Given the description of an element on the screen output the (x, y) to click on. 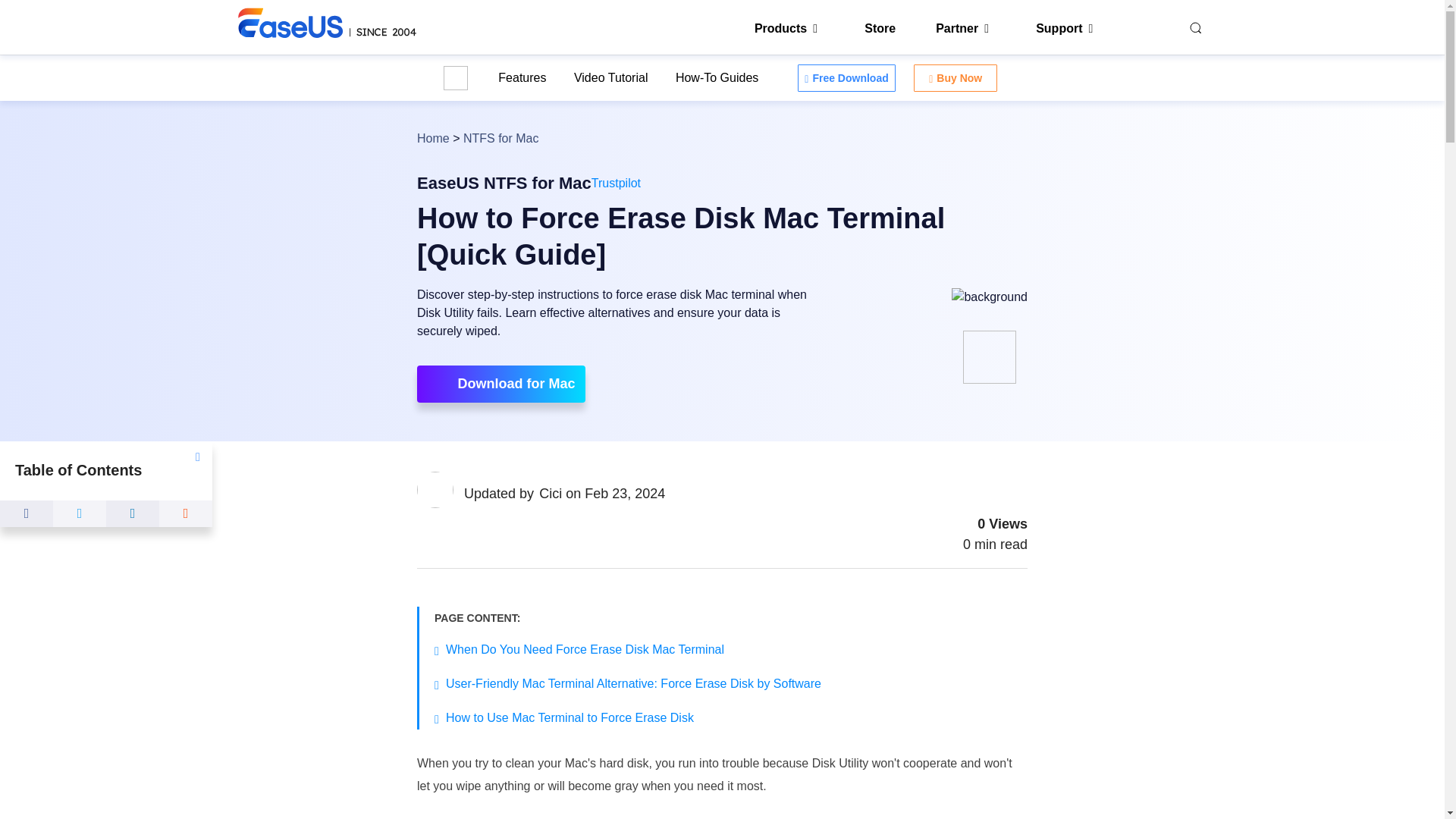
When Do You Need Force Erase Disk Mac Terminal (584, 649)
How-To Guides (716, 77)
Home (432, 137)
 Download for Mac (500, 383)
Video Tutorial (610, 77)
Features (521, 77)
How to Use Mac Terminal to Force Erase Disk (569, 717)
